Given the description of an element on the screen output the (x, y) to click on. 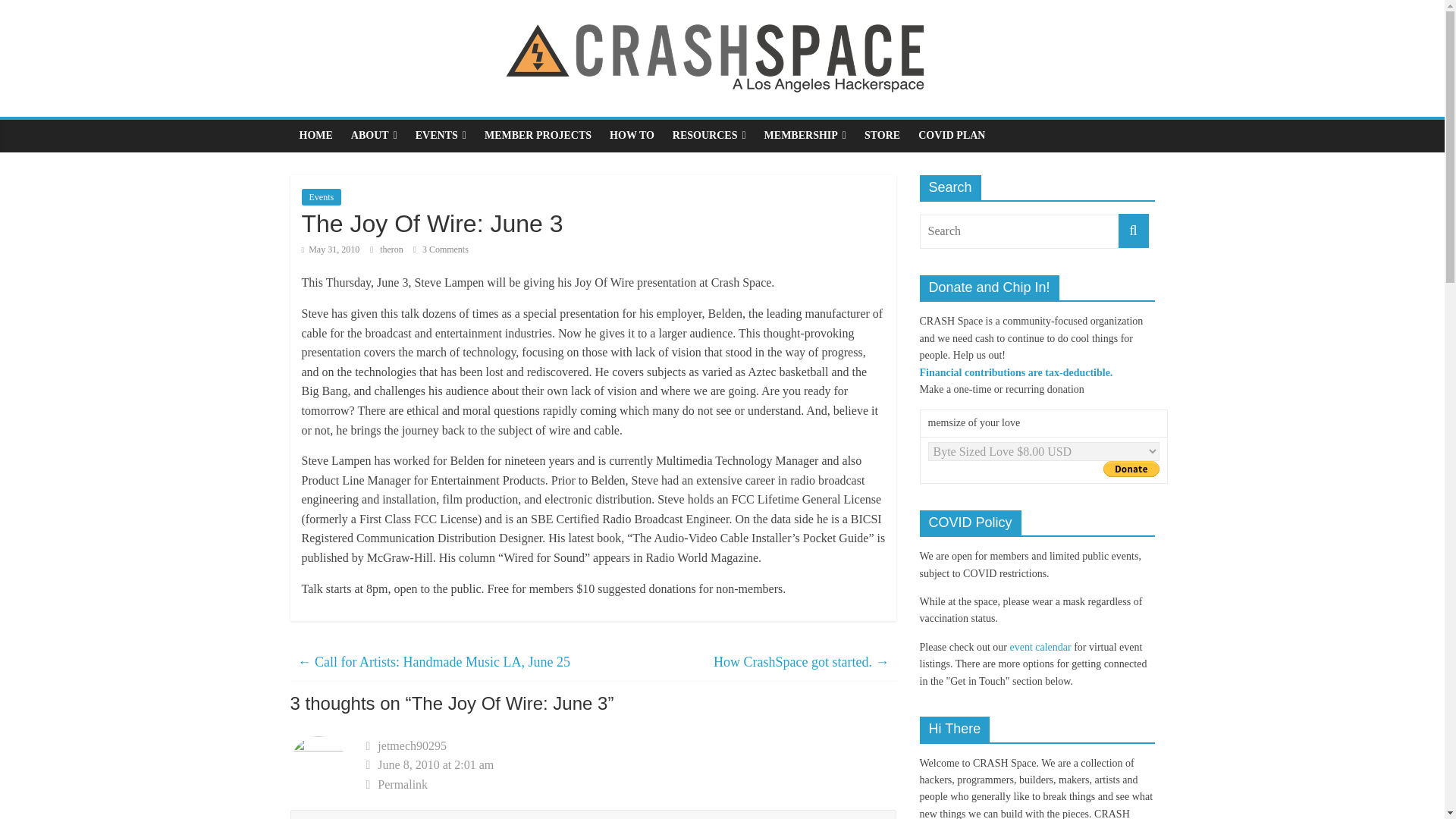
theron (393, 249)
COVID PLAN (951, 135)
Events (321, 197)
ABOUT (374, 135)
STORE (882, 135)
8:14 pm (330, 249)
RESOURCES (709, 135)
EVENTS (441, 135)
HOME (314, 135)
MEMBER PROJECTS (537, 135)
